Given the description of an element on the screen output the (x, y) to click on. 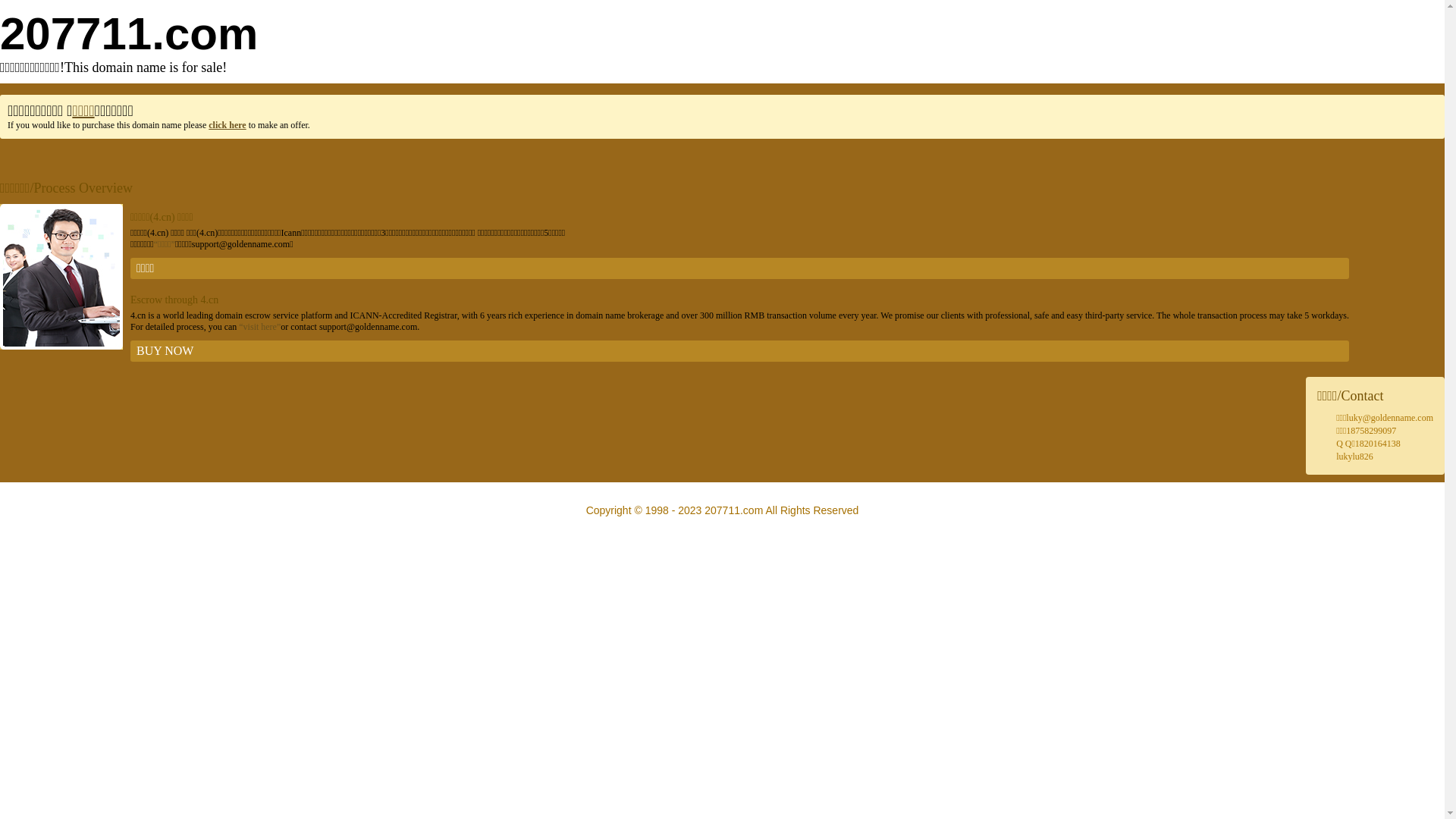
BUY NOW Element type: text (739, 350)
click here Element type: text (226, 124)
